Given the description of an element on the screen output the (x, y) to click on. 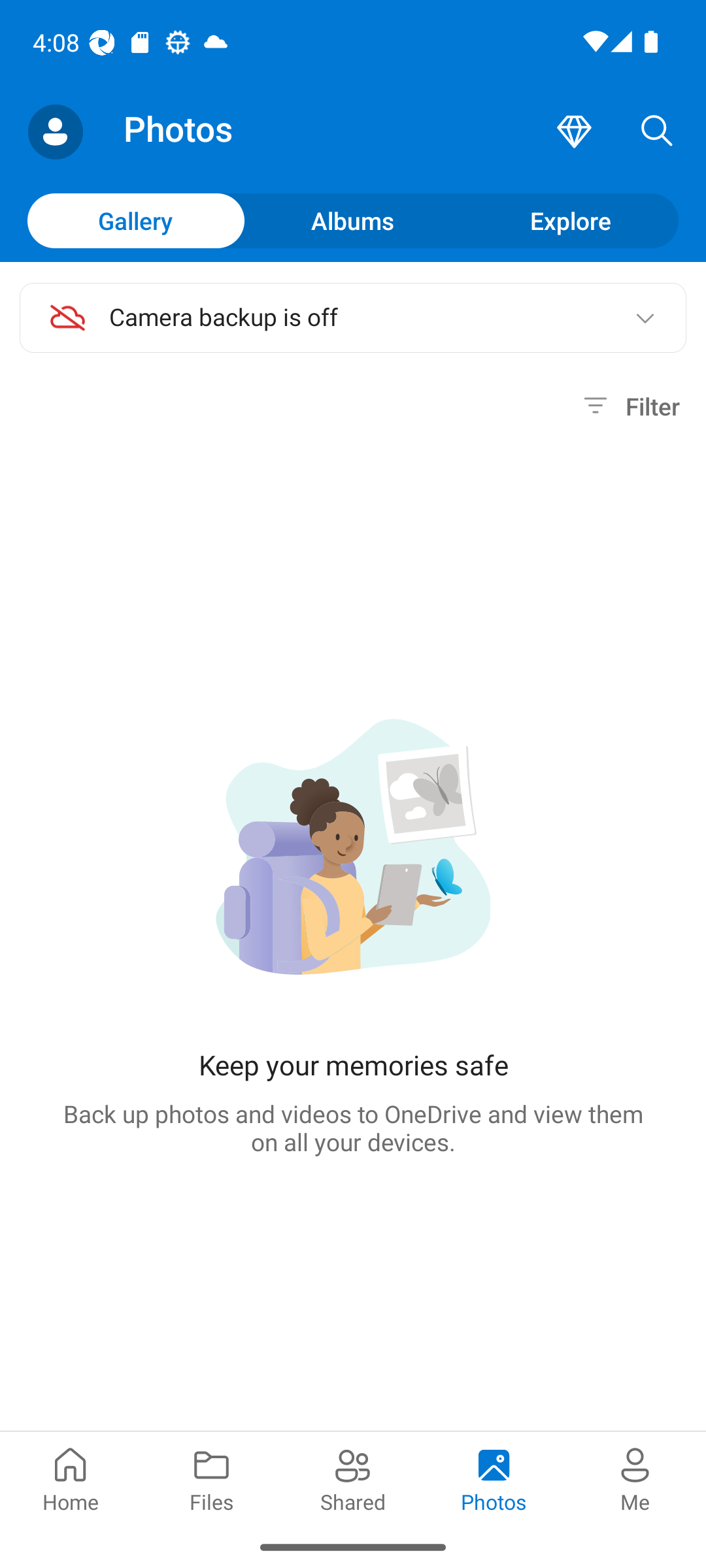
Account switcher (55, 131)
Premium button (574, 131)
Search button (656, 131)
Albums (352, 219)
Explore (569, 219)
Expand camera status banner (645, 318)
Filter (628, 405)
Home pivot Home (70, 1478)
Files pivot Files (211, 1478)
Shared pivot Shared (352, 1478)
Me pivot Me (635, 1478)
